Given the description of an element on the screen output the (x, y) to click on. 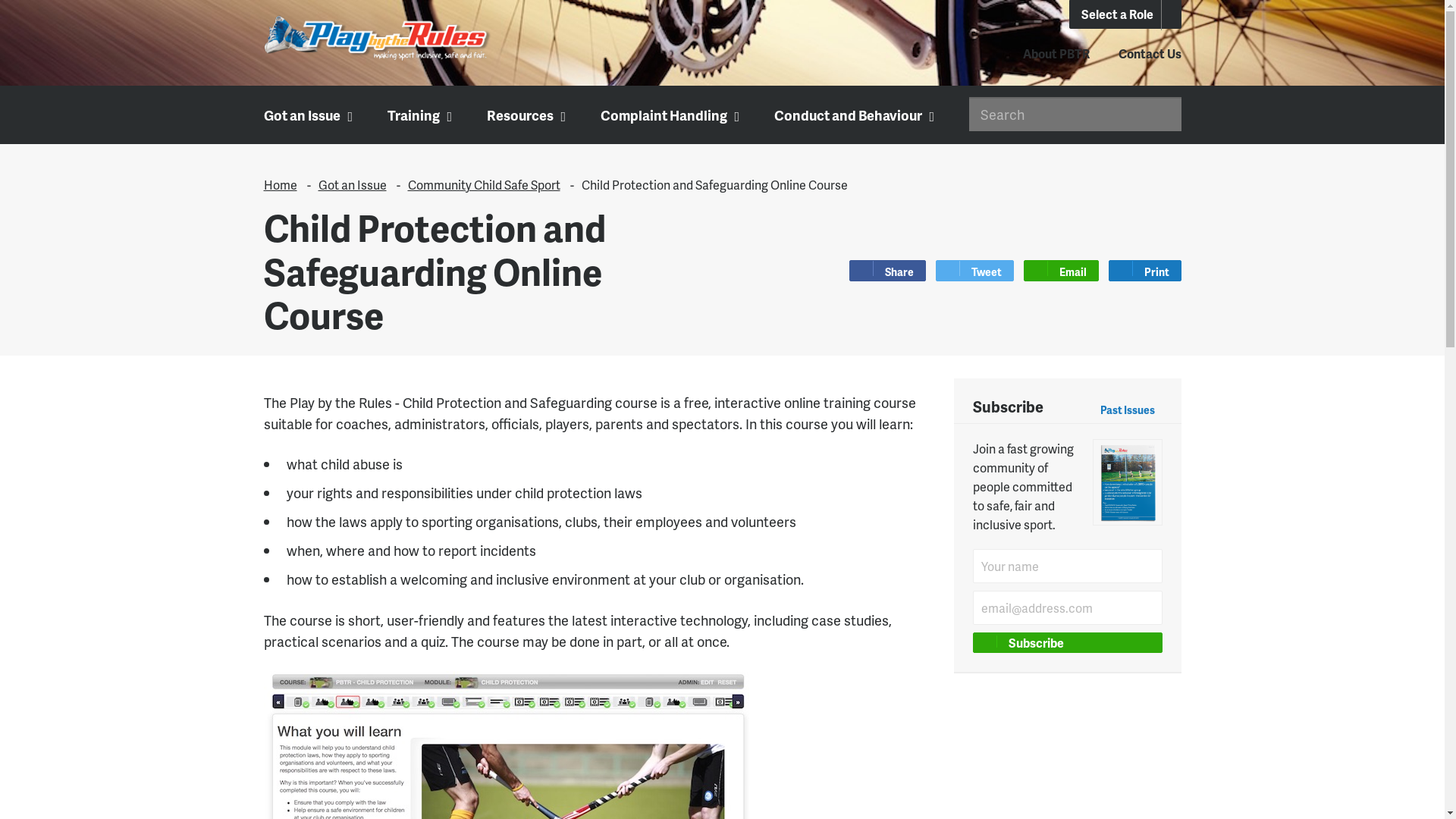
Community Child Safe Sport Element type: text (483, 184)
Got an Issue Element type: text (352, 184)
Home Element type: text (280, 184)
Email Element type: text (1060, 270)
Conduct and Behaviour Element type: text (852, 114)
About PBTR Element type: text (1055, 53)
Past Issues Element type: text (1130, 409)
Share Element type: text (887, 270)
Subscribe Element type: text (1066, 642)
Resources Element type: text (523, 114)
Tweet Element type: text (974, 270)
Contact Us Element type: text (1148, 53)
Training Element type: text (417, 114)
Child Protection and Safeguarding Online Course Element type: text (713, 184)
Select a Role Element type: text (1125, 14)
Print Element type: text (1144, 270)
Got an Issue Element type: text (305, 114)
Complaint Handling Element type: text (667, 114)
